Given the description of an element on the screen output the (x, y) to click on. 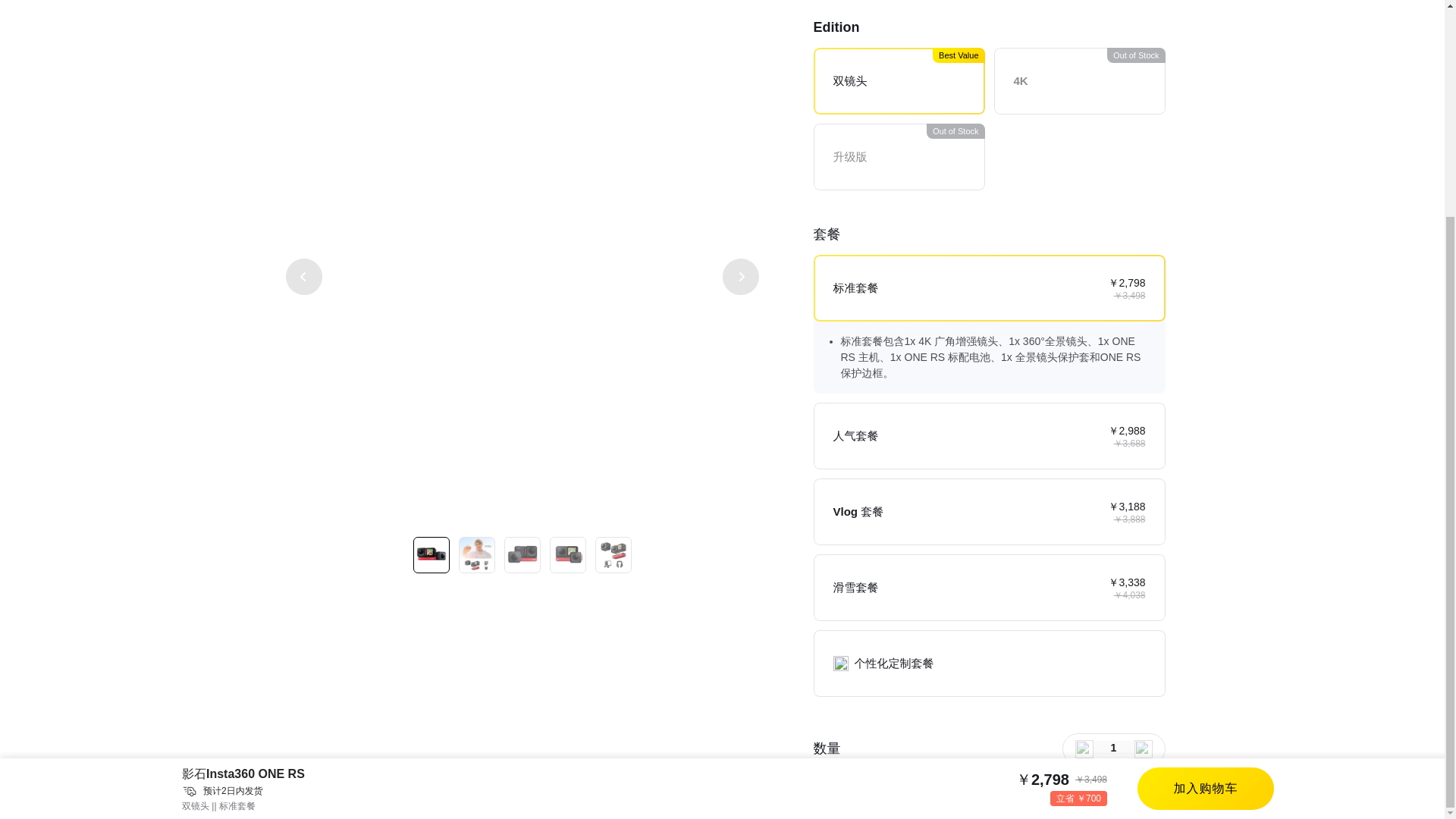
1 (1113, 747)
